Given the description of an element on the screen output the (x, y) to click on. 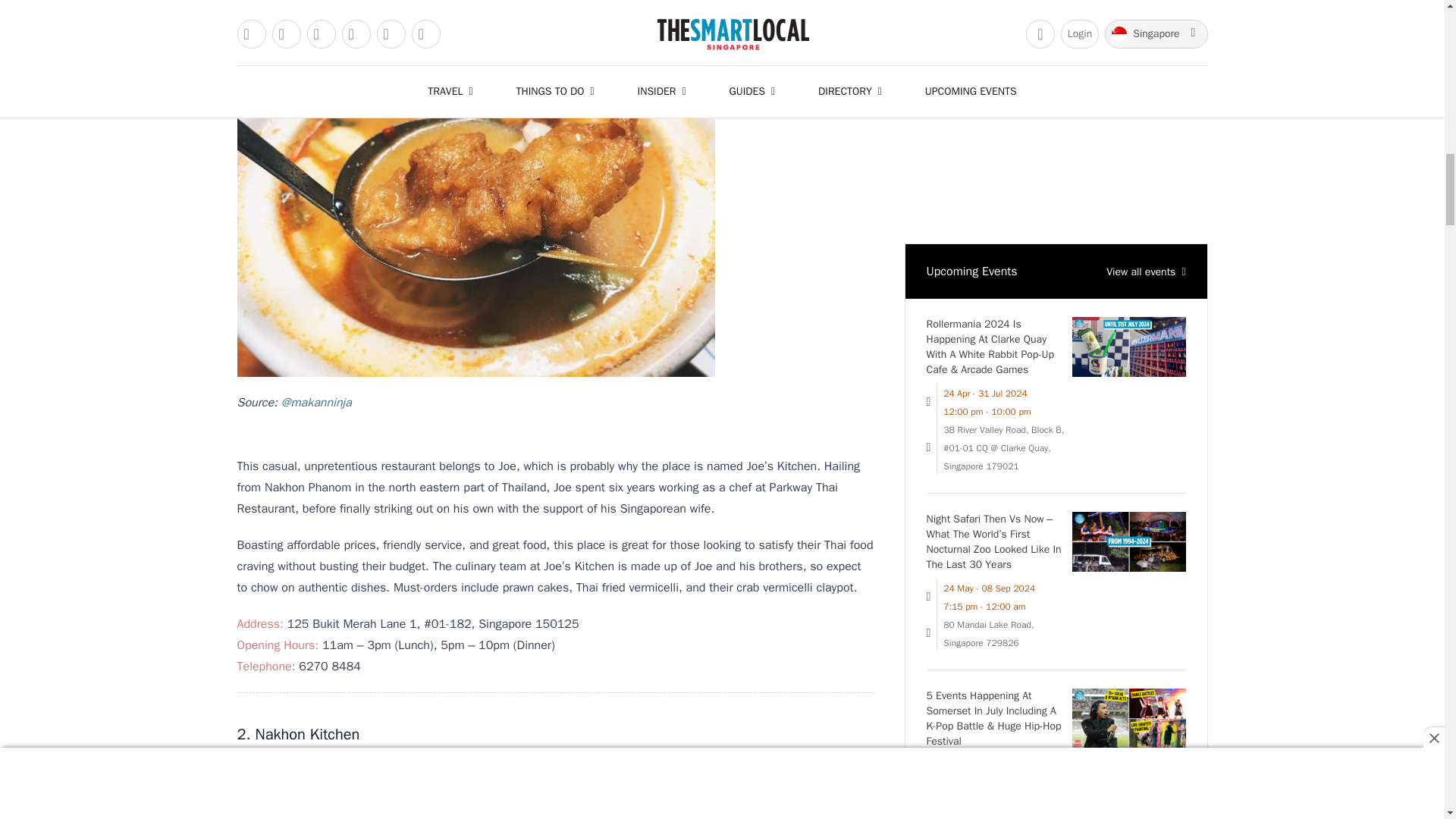
3rd party ad content (1055, 114)
